Given the description of an element on the screen output the (x, y) to click on. 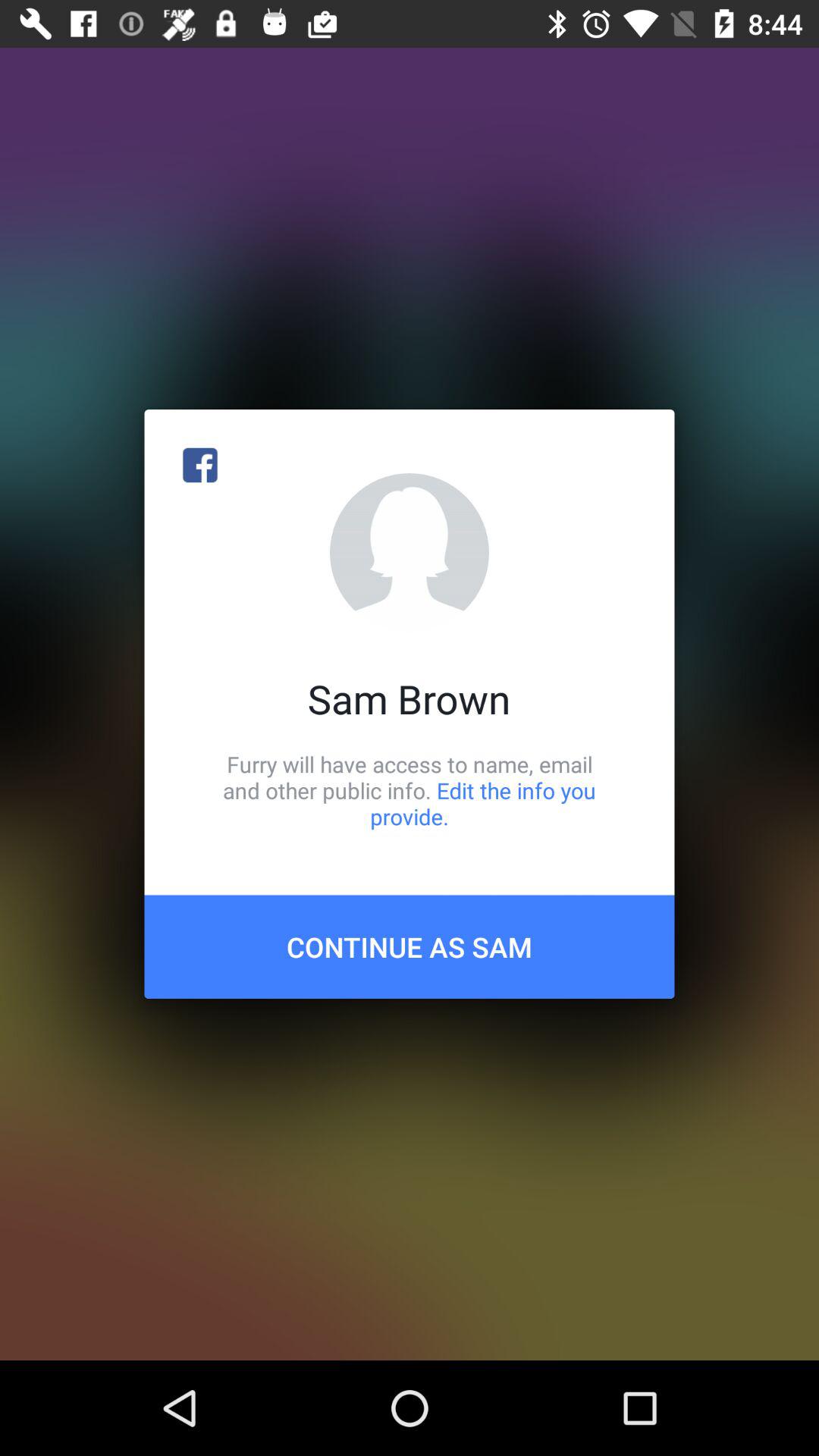
flip until the continue as sam item (409, 946)
